Given the description of an element on the screen output the (x, y) to click on. 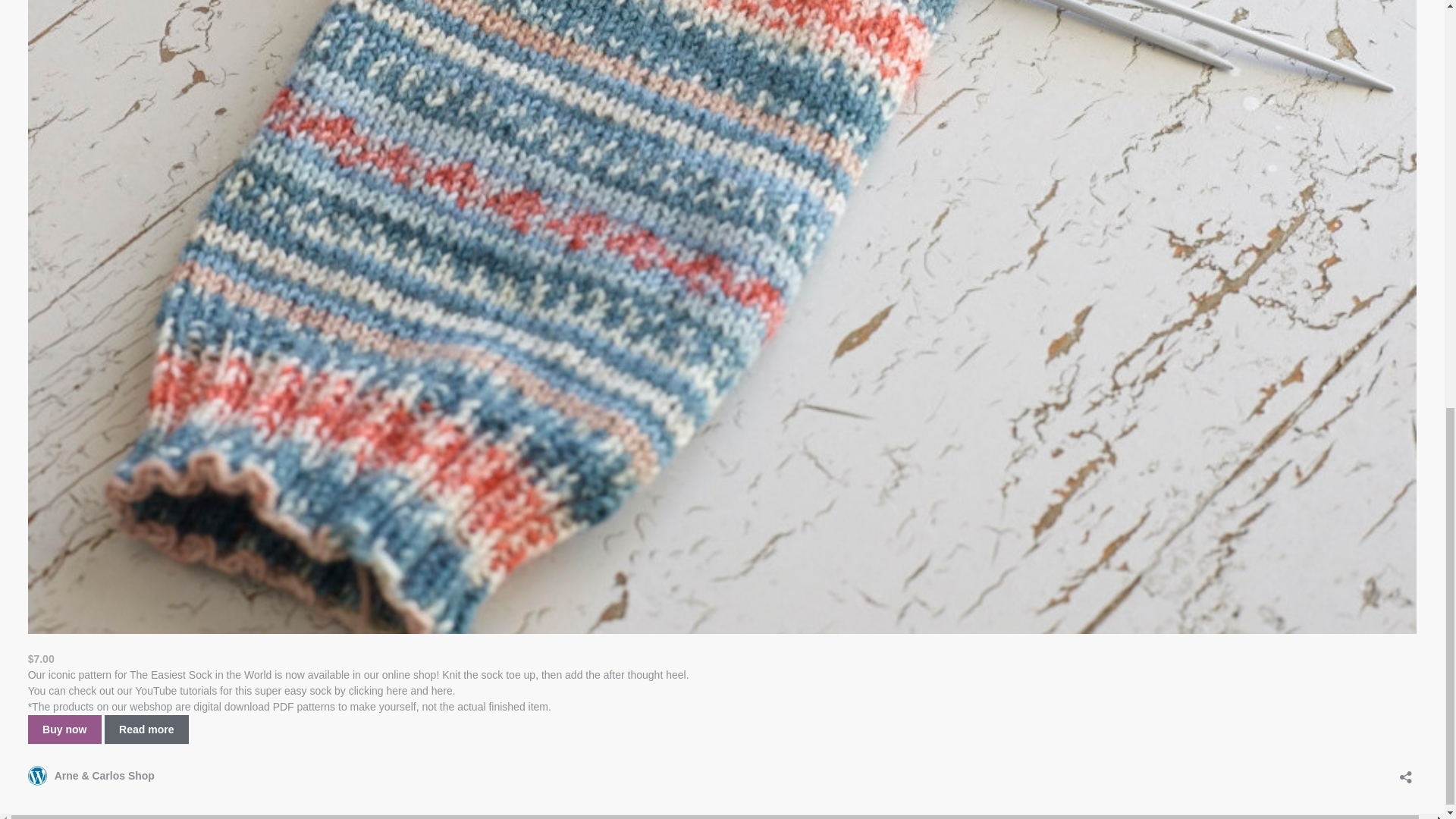
Read more (146, 728)
here. (442, 690)
here (397, 690)
Buy now (64, 728)
